Given the description of an element on the screen output the (x, y) to click on. 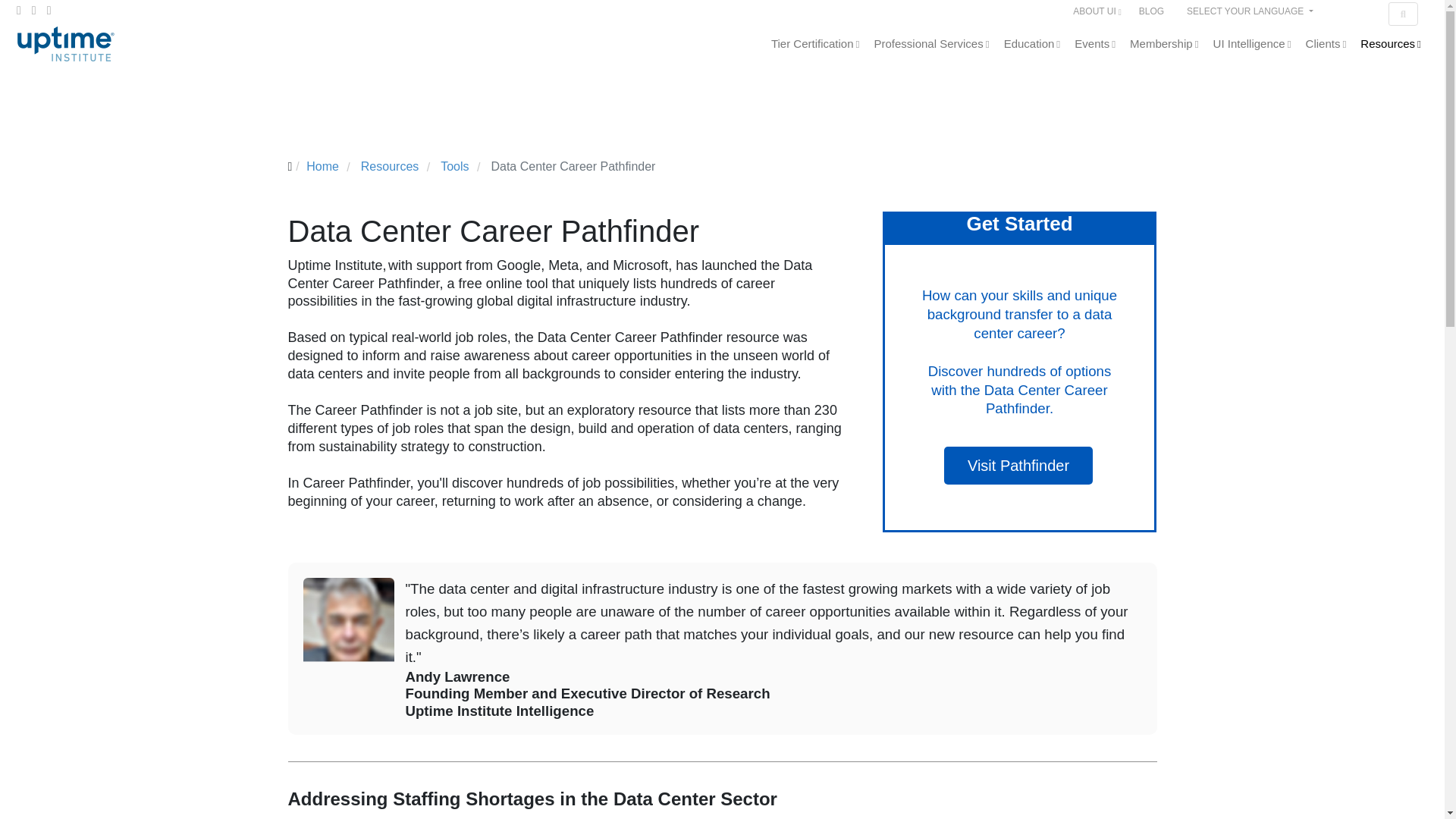
BLOG (1151, 11)
SELECT YOUR LANGUAGE (1249, 10)
Professional Services (932, 43)
ABOUT UI (1098, 11)
Education (1032, 43)
Tier Certification (816, 43)
